Given the description of an element on the screen output the (x, y) to click on. 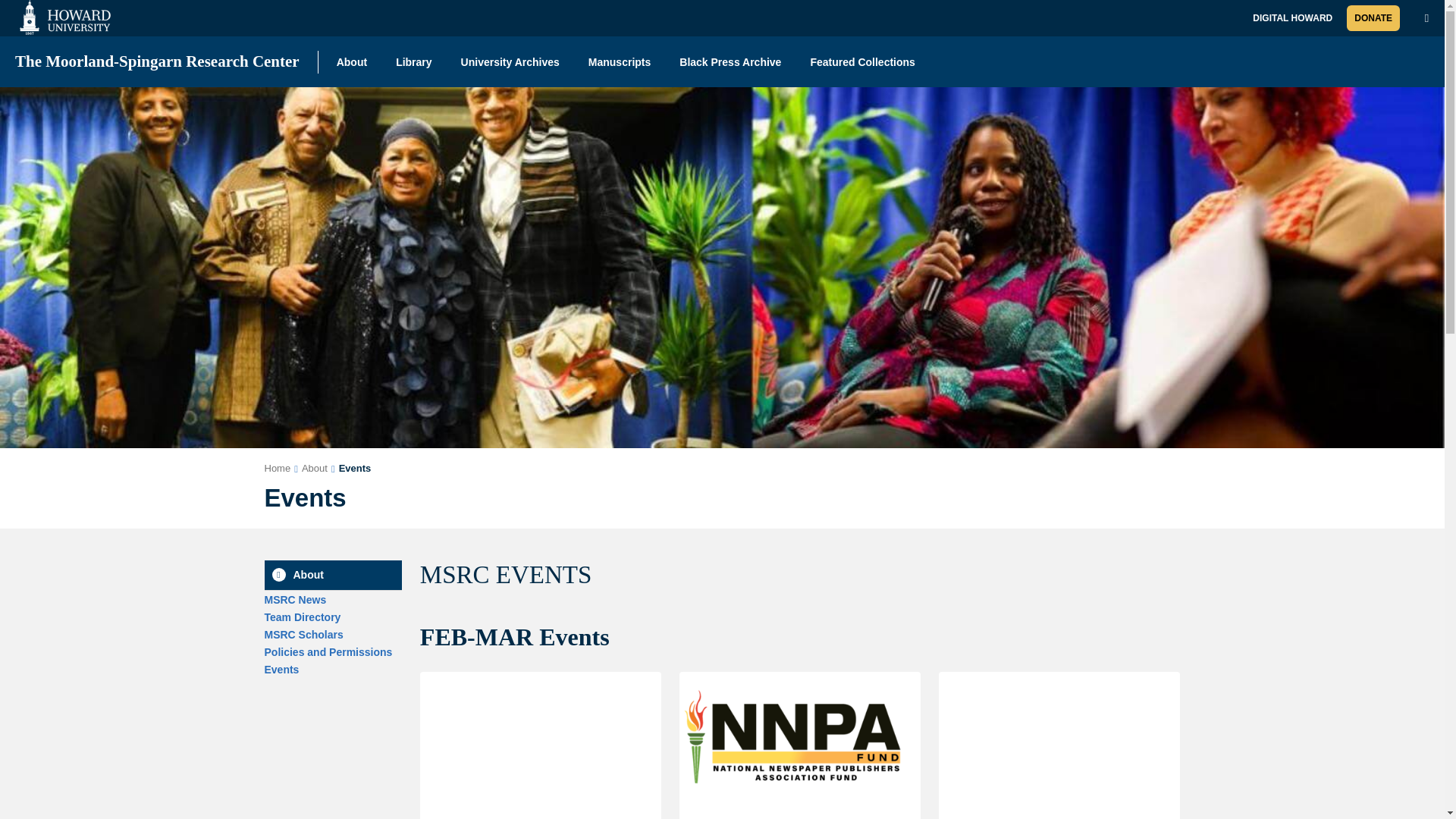
DONATE (1372, 17)
University Archives (509, 61)
naa (302, 634)
Library (413, 61)
Policies and Permissions (327, 652)
About (351, 61)
About (332, 575)
MSRC News (294, 599)
Home (276, 468)
Featured Collections (861, 61)
